Given the description of an element on the screen output the (x, y) to click on. 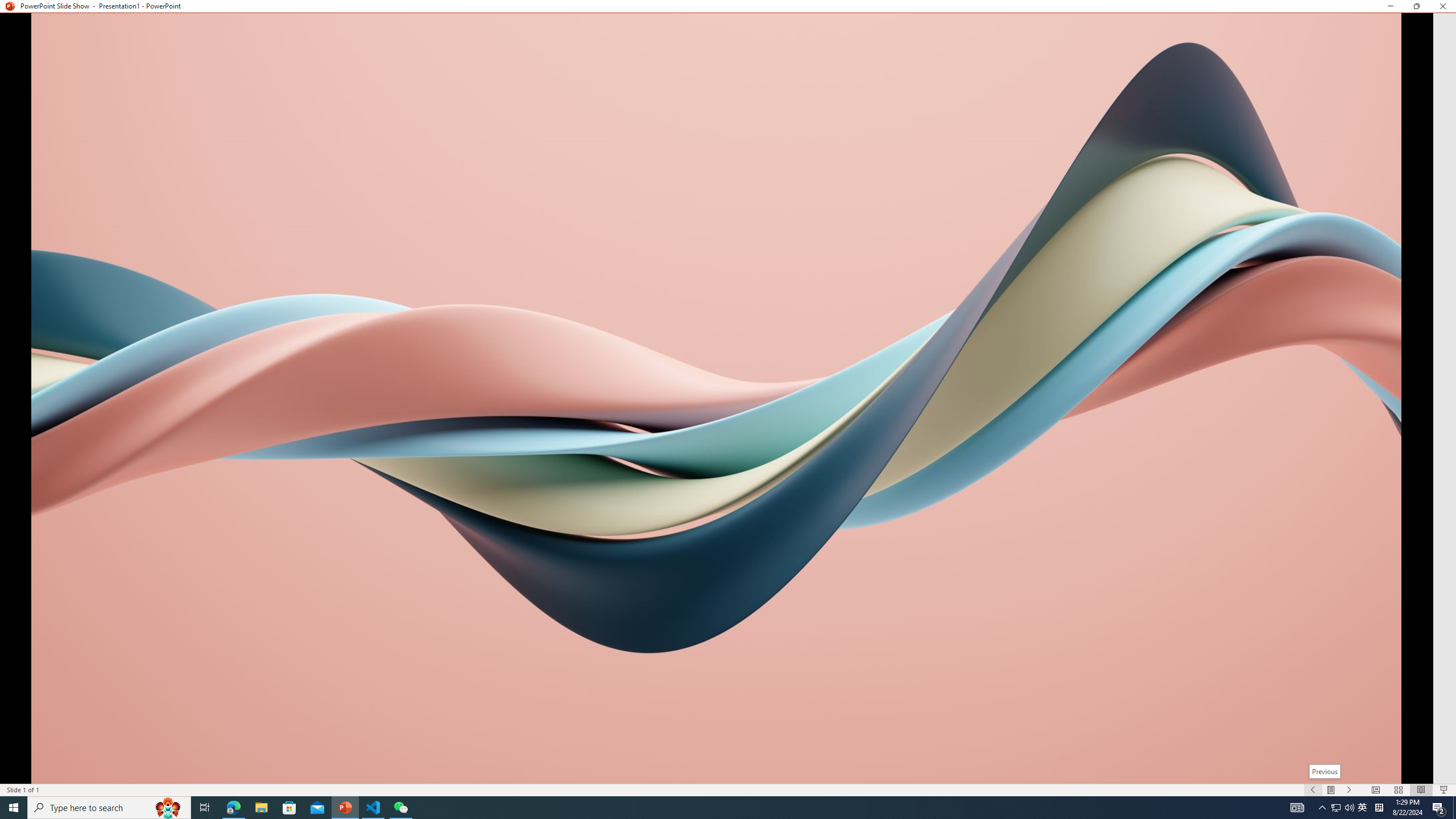
Class: MsoCommandBar (728, 789)
Previous (1324, 771)
Slide Show Next On (1349, 790)
Menu On (1331, 790)
Slide Show Previous On (1313, 790)
